Given the description of an element on the screen output the (x, y) to click on. 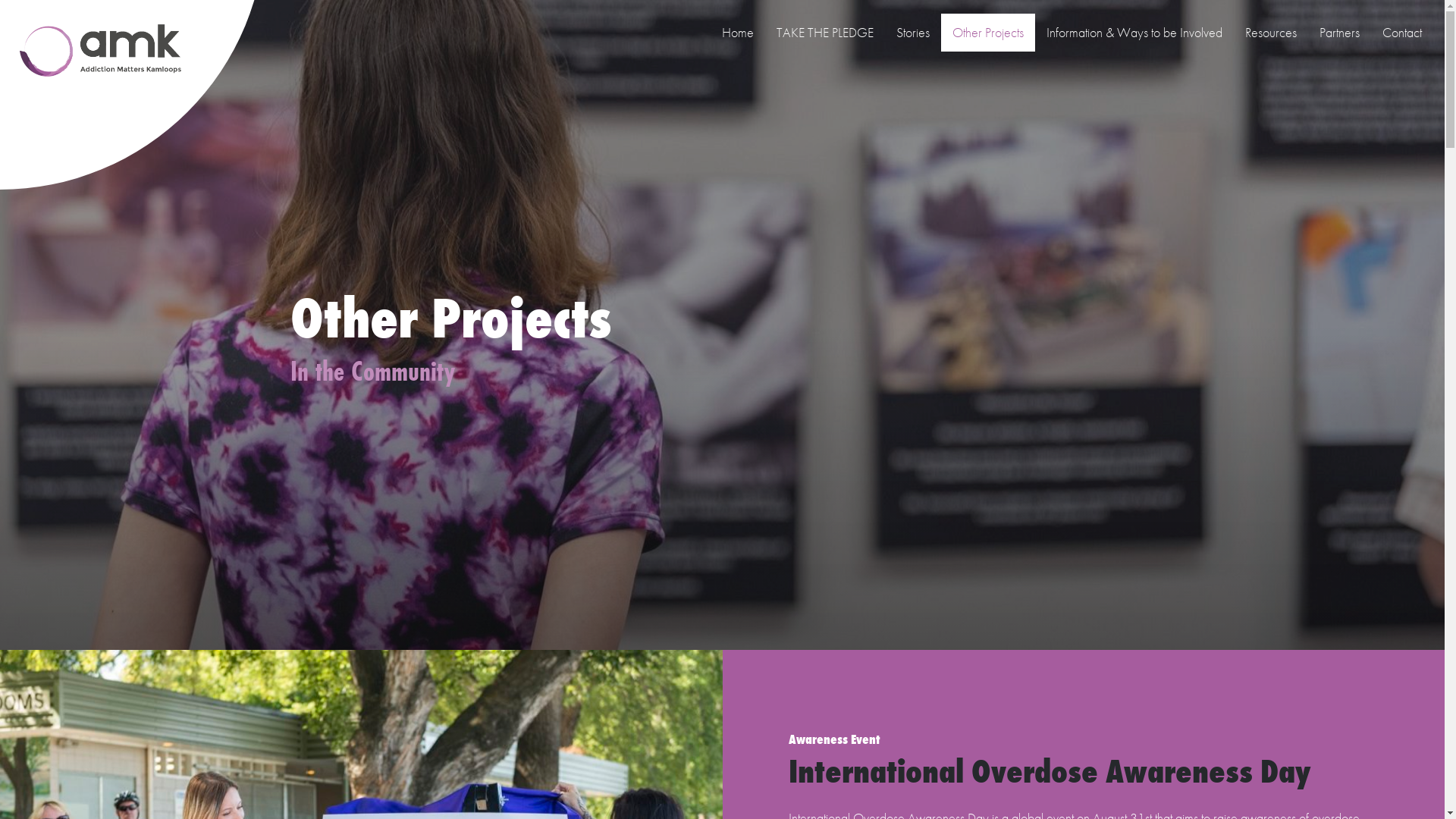
Other Projects Element type: text (988, 32)
Home Element type: text (737, 32)
Stories Element type: text (912, 32)
Contact Element type: text (1402, 32)
Partners Element type: text (1339, 32)
Addiction Matters Element type: hover (113, 51)
Information & Ways to be Involved Element type: text (1134, 32)
TAKE THE PLEDGE Element type: text (824, 32)
Other Projects Element type: hover (722, 324)
Resources Element type: text (1270, 32)
